Given the description of an element on the screen output the (x, y) to click on. 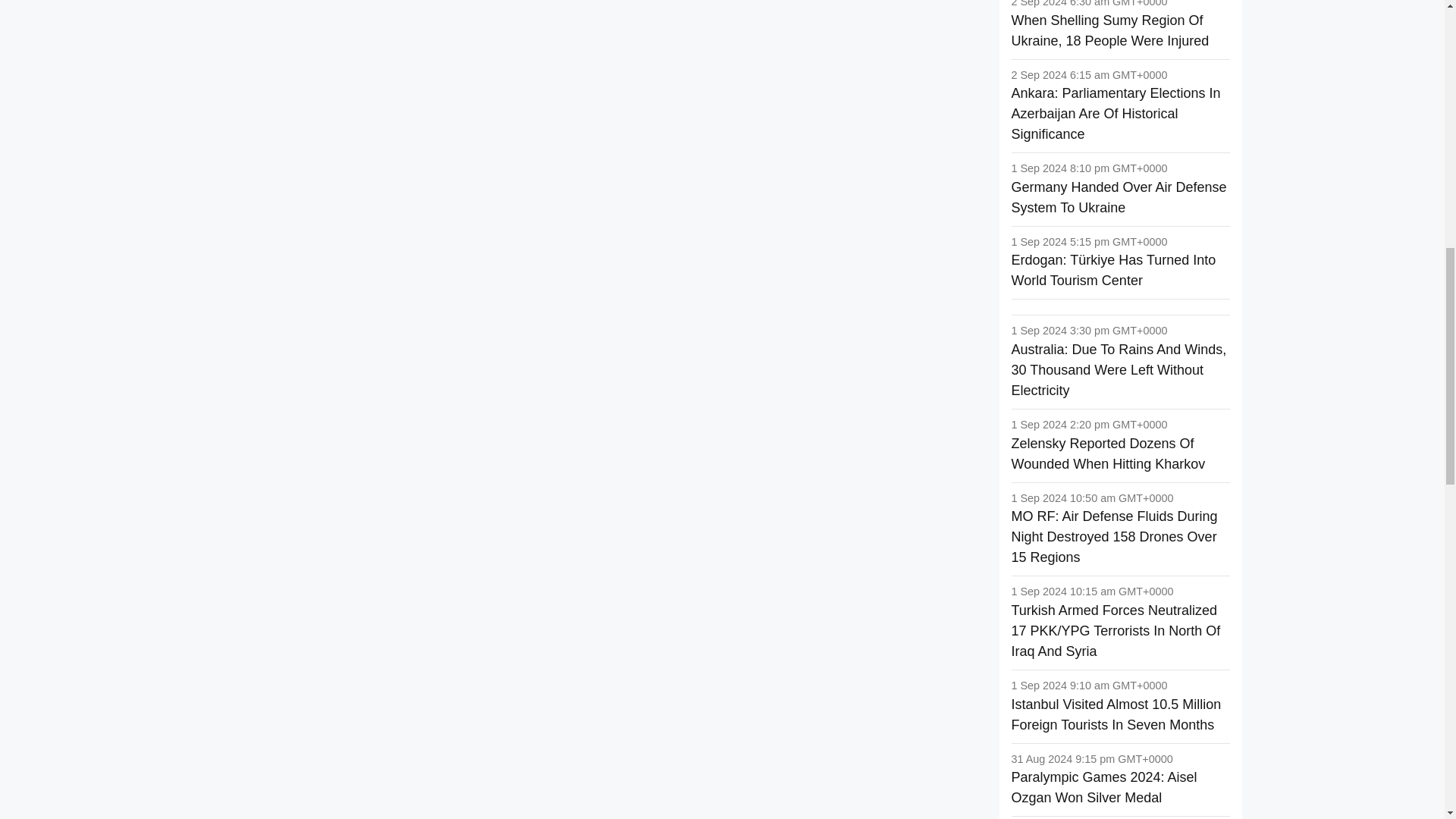
Zelensky Reported Dozens Of Wounded When Hitting Kharkov (1108, 453)
Germany Handed Over Air Defense System To Ukraine (1119, 197)
When Shelling Sumy Region Of Ukraine, 18 People Were Injured (1110, 30)
Paralympic Games 2024: Aisel Ozgan Won Silver Medal (1103, 787)
